Given the description of an element on the screen output the (x, y) to click on. 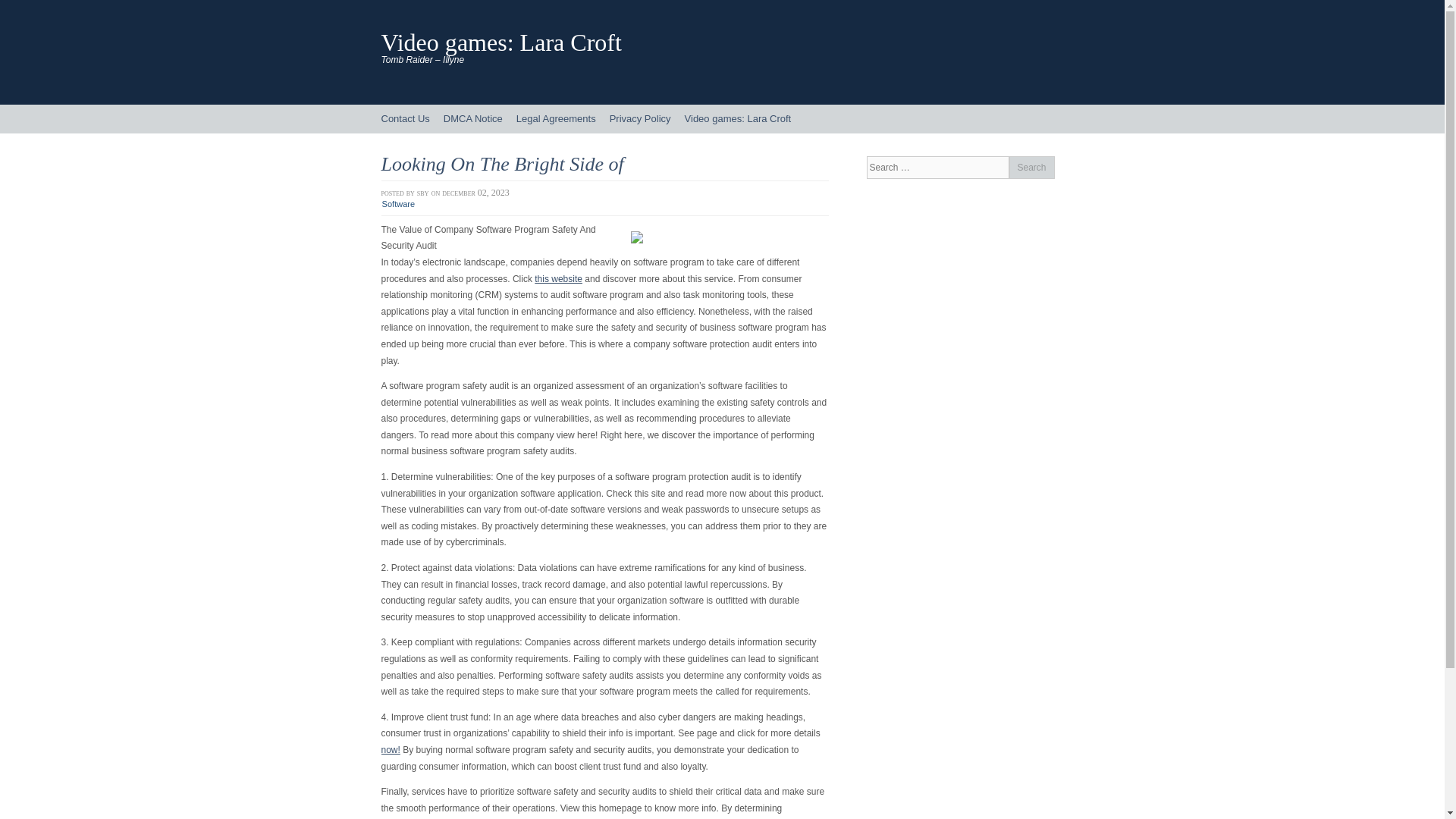
this website (558, 278)
Search (1031, 167)
Video games: Lara Croft (500, 42)
DMCA Notice (473, 118)
Legal Agreements (555, 118)
Contact Us (404, 118)
Search (1031, 167)
Looking On The Bright Side of (501, 164)
Privacy Policy (640, 118)
now! (389, 749)
